Given the description of an element on the screen output the (x, y) to click on. 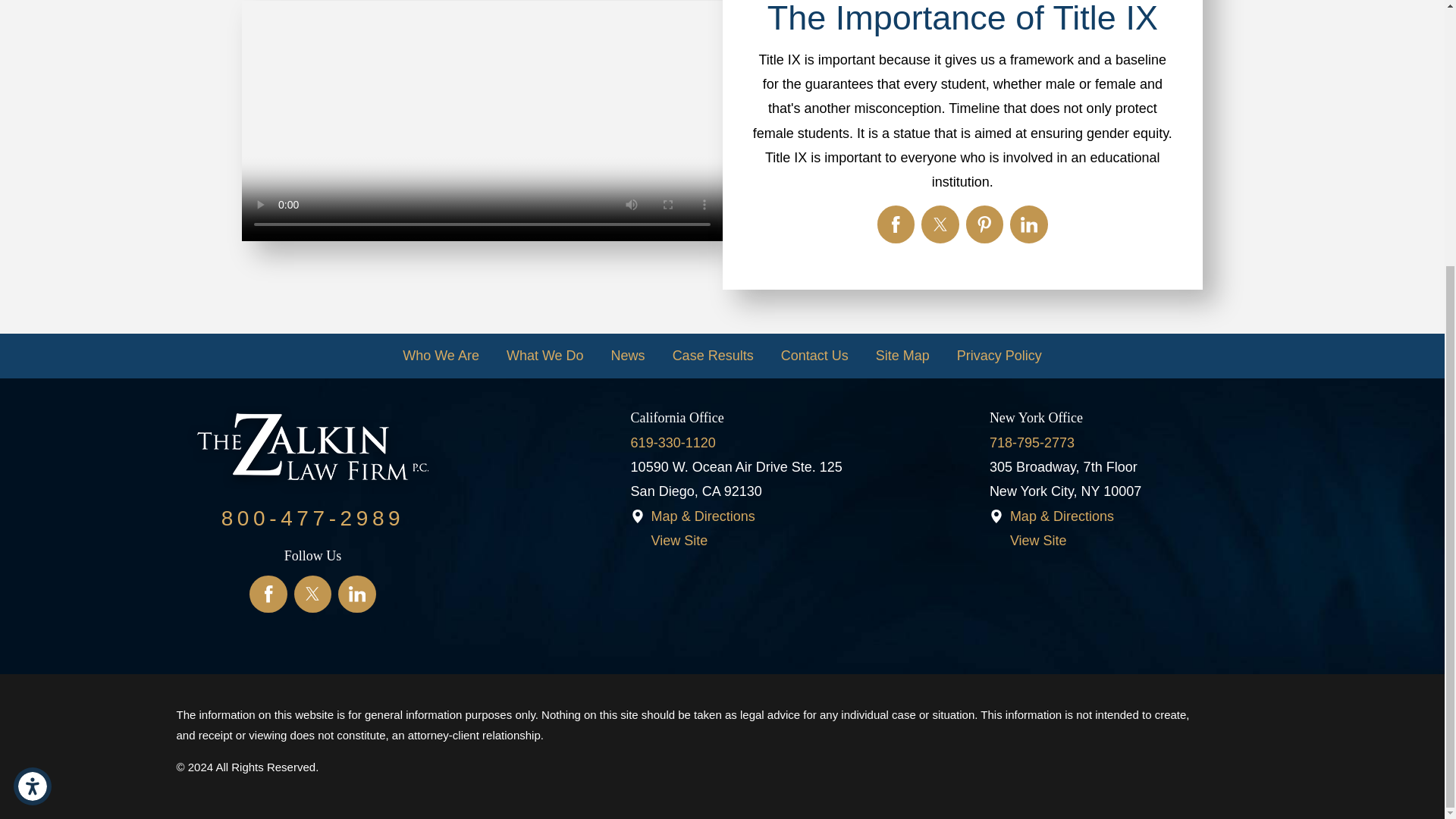
The Zalkin Law Firm, P.C. (312, 449)
Twitter (312, 594)
Facebook (267, 594)
Open the accessibility options menu (31, 401)
